Given the description of an element on the screen output the (x, y) to click on. 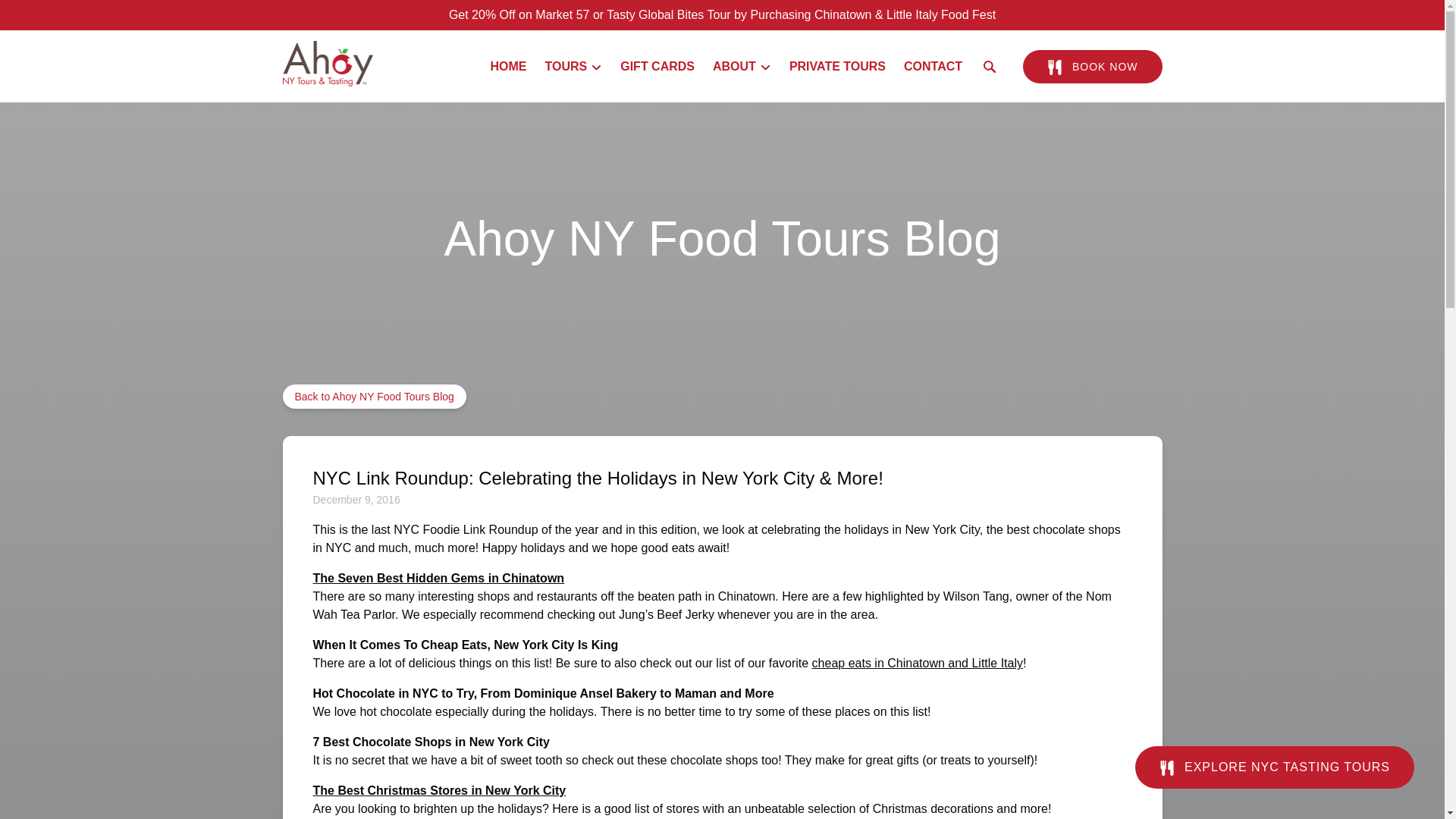
Skip to primary navigation (77, 16)
TOURS (573, 66)
cheap eats in Chinatown and Little Italy (917, 662)
The Seven Best Hidden Gems in Chinatown (438, 577)
Back to Ahoy NY Food Tours Blog (373, 396)
Open Tours Menu (577, 62)
The Best Christmas Stores in New York City (439, 789)
FOOD EXPLORE NYC TASTING TOURS (1274, 754)
FOOD BOOK NOW (1092, 66)
HOME (507, 66)
